Given the description of an element on the screen output the (x, y) to click on. 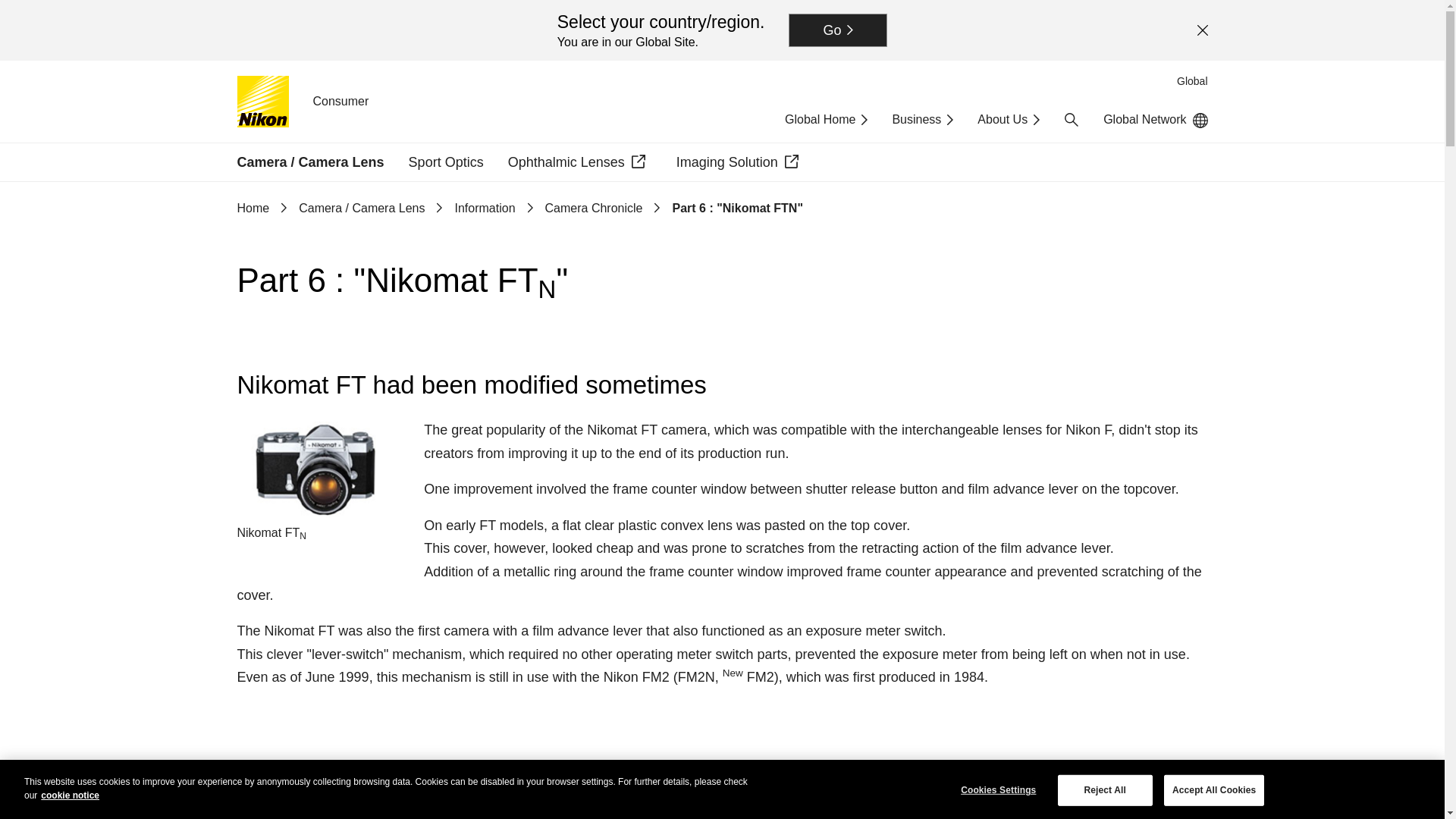
Imaging Solution (741, 162)
Global Home (825, 119)
Business (922, 119)
About Us (1007, 119)
Global Network (1155, 119)
Search (1071, 119)
Go (837, 29)
Part 6 : "Nikomat FTN" (737, 207)
Camera Chronicle (593, 207)
Information (484, 207)
